Given the description of an element on the screen output the (x, y) to click on. 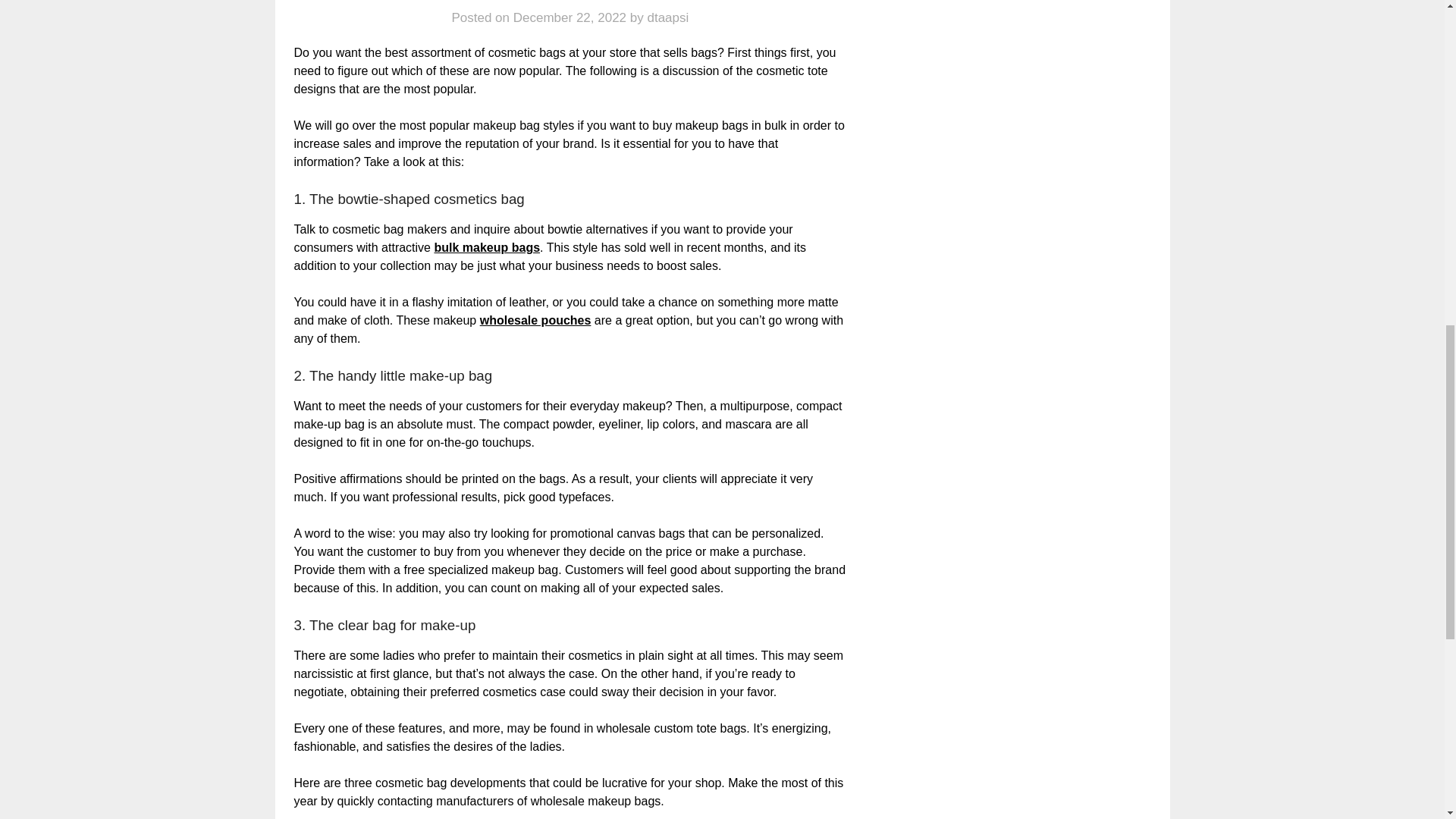
dtaapsi (667, 17)
December 22, 2022 (569, 17)
wholesale pouches (535, 319)
bulk makeup bags (486, 246)
